Given the description of an element on the screen output the (x, y) to click on. 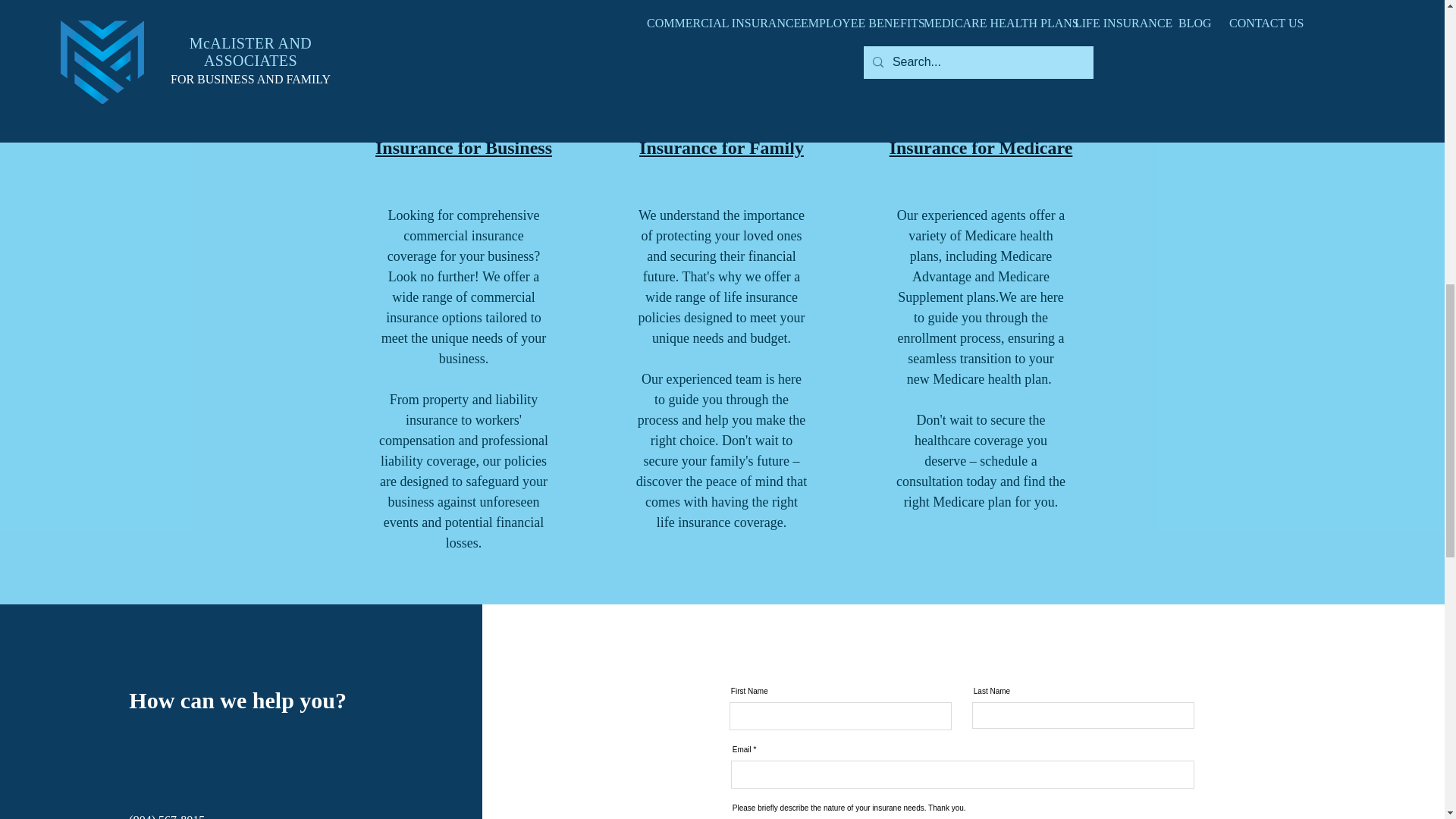
Insurance for Medicare (981, 147)
Insurance for Business (463, 147)
Insurance for Family (721, 147)
